Given the description of an element on the screen output the (x, y) to click on. 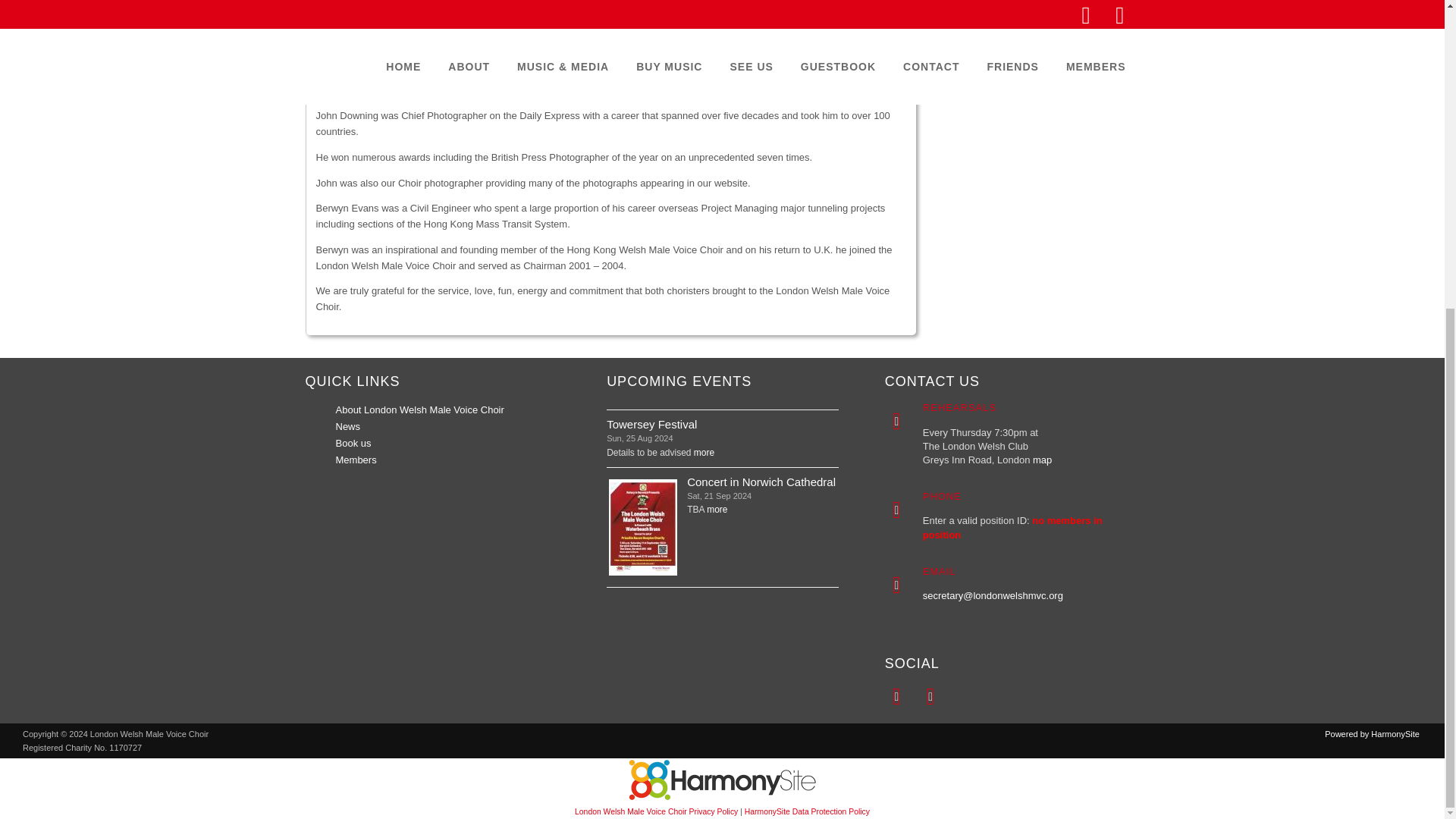
Visit us on Facebook (896, 696)
RSS Feeds (930, 696)
Powered by HarmonySite (721, 779)
